Given the description of an element on the screen output the (x, y) to click on. 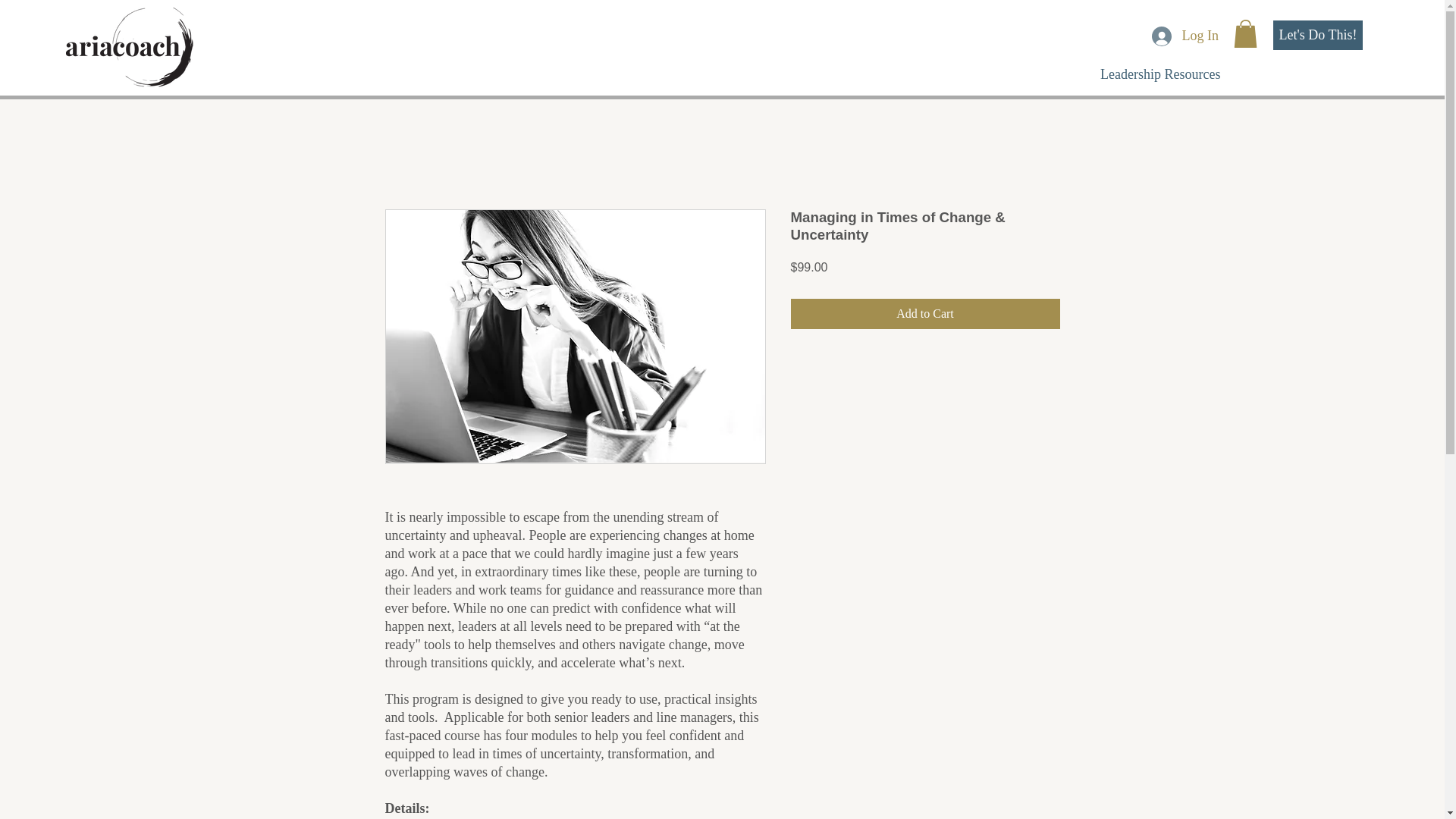
Add to Cart (924, 313)
Let's Do This! (1317, 34)
Log In (1184, 35)
Leadership Resources (1159, 74)
